Given the description of an element on the screen output the (x, y) to click on. 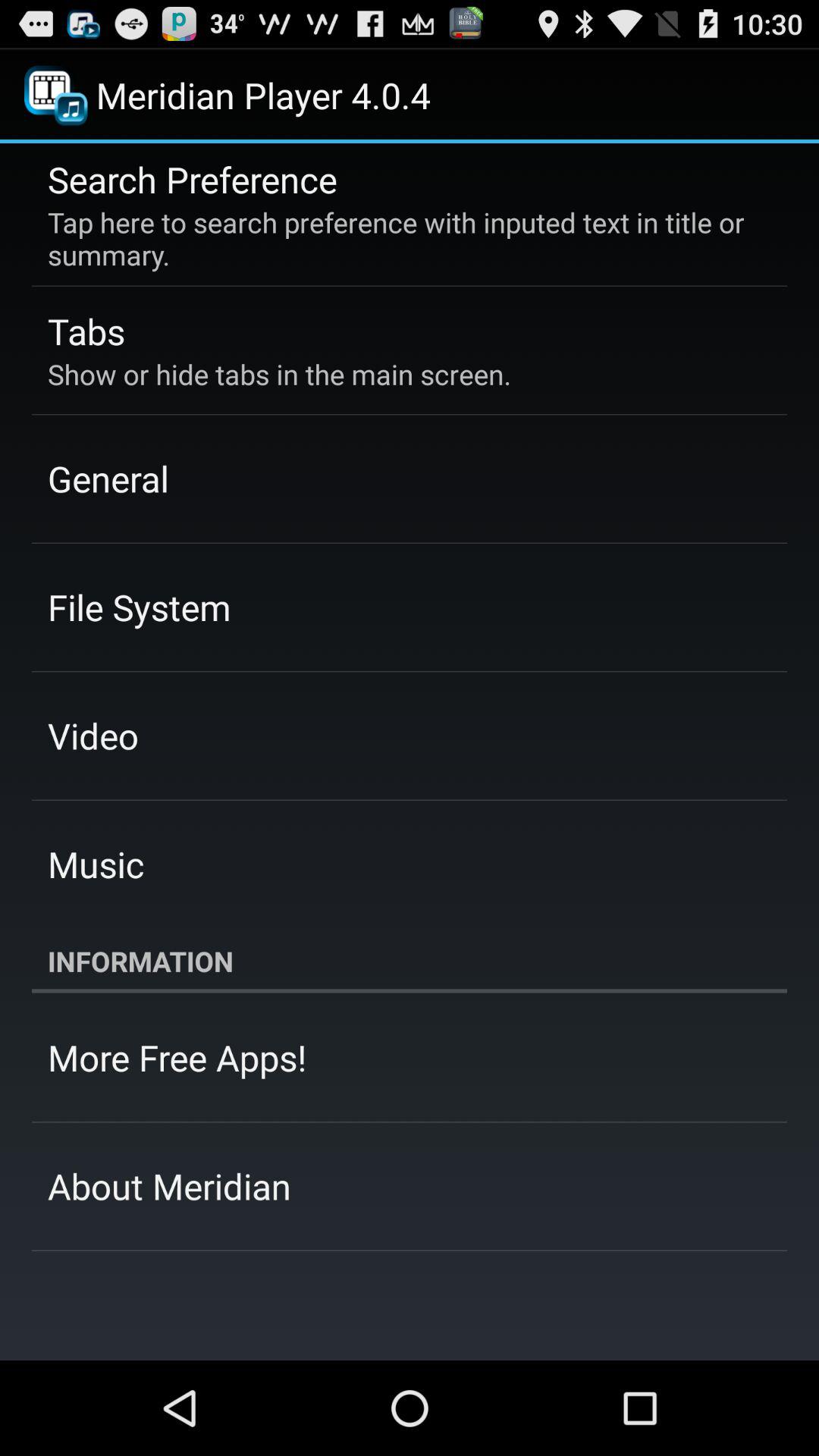
select the item below the general app (138, 606)
